Given the description of an element on the screen output the (x, y) to click on. 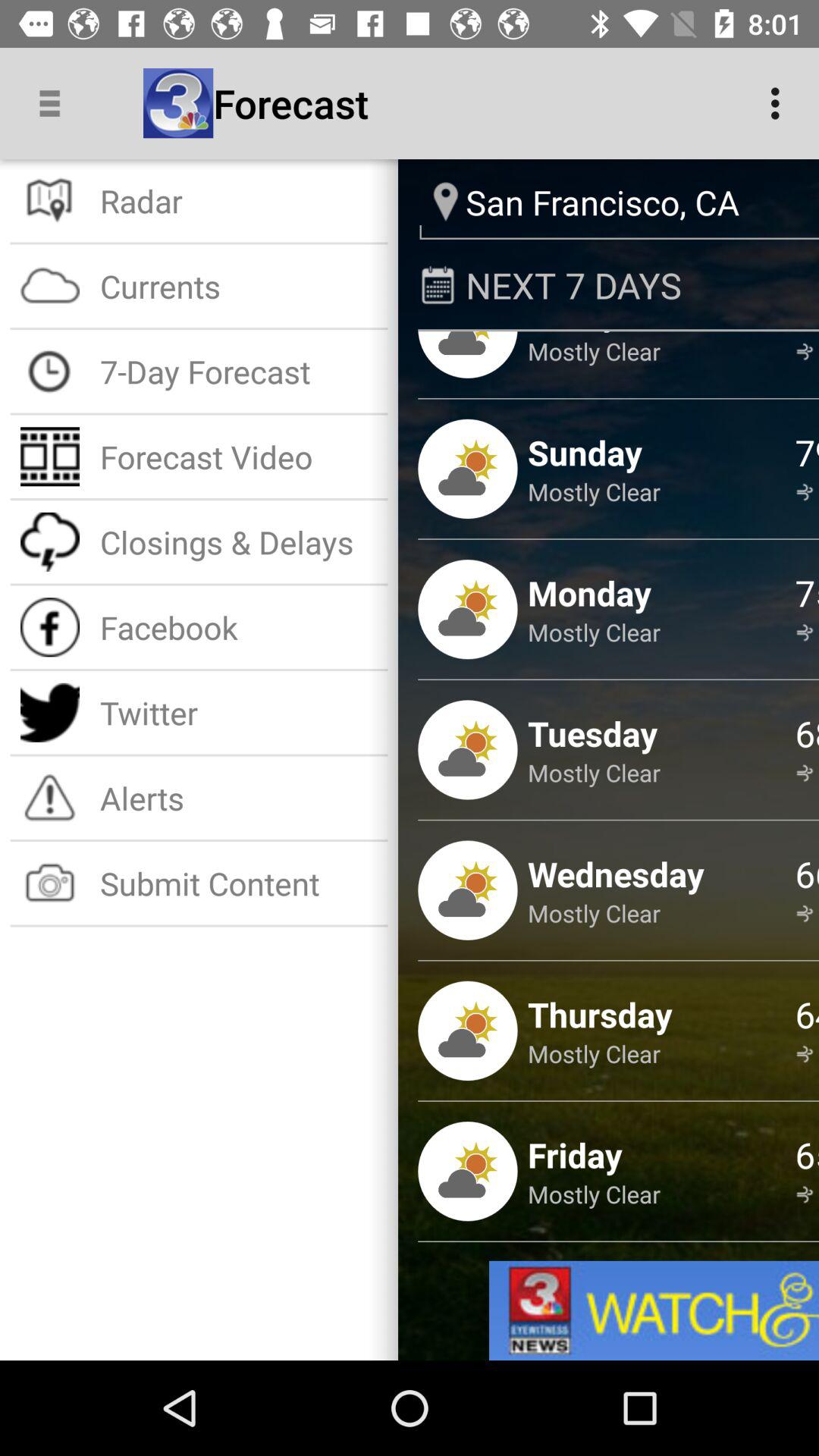
choose the monday (589, 592)
